Given the description of an element on the screen output the (x, y) to click on. 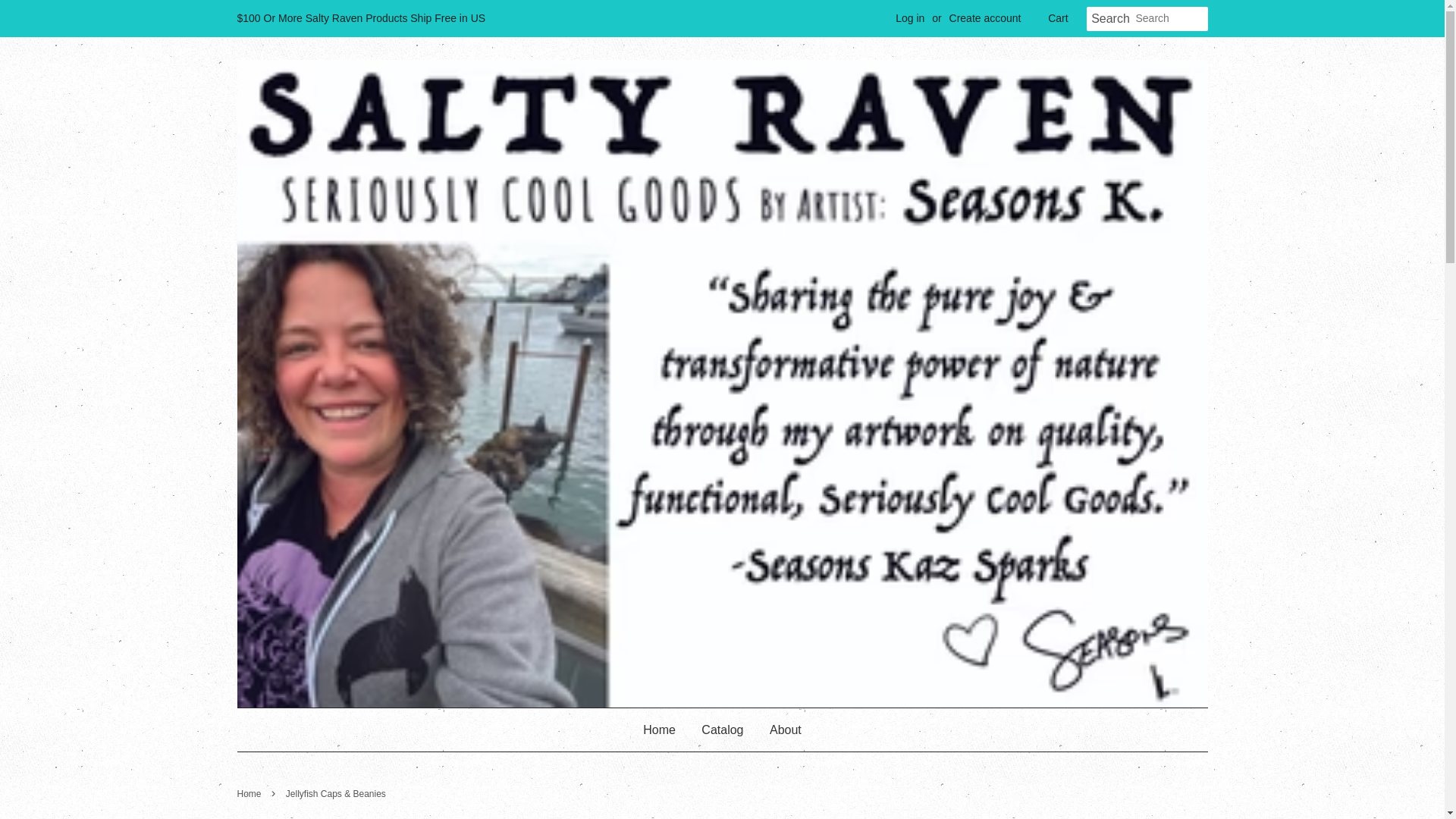
Back to the frontpage (249, 793)
Home (665, 729)
About (780, 729)
Create account (985, 18)
Home (249, 793)
Cart (1057, 18)
Search (1110, 18)
Catalog (722, 729)
Log in (909, 18)
